Given the description of an element on the screen output the (x, y) to click on. 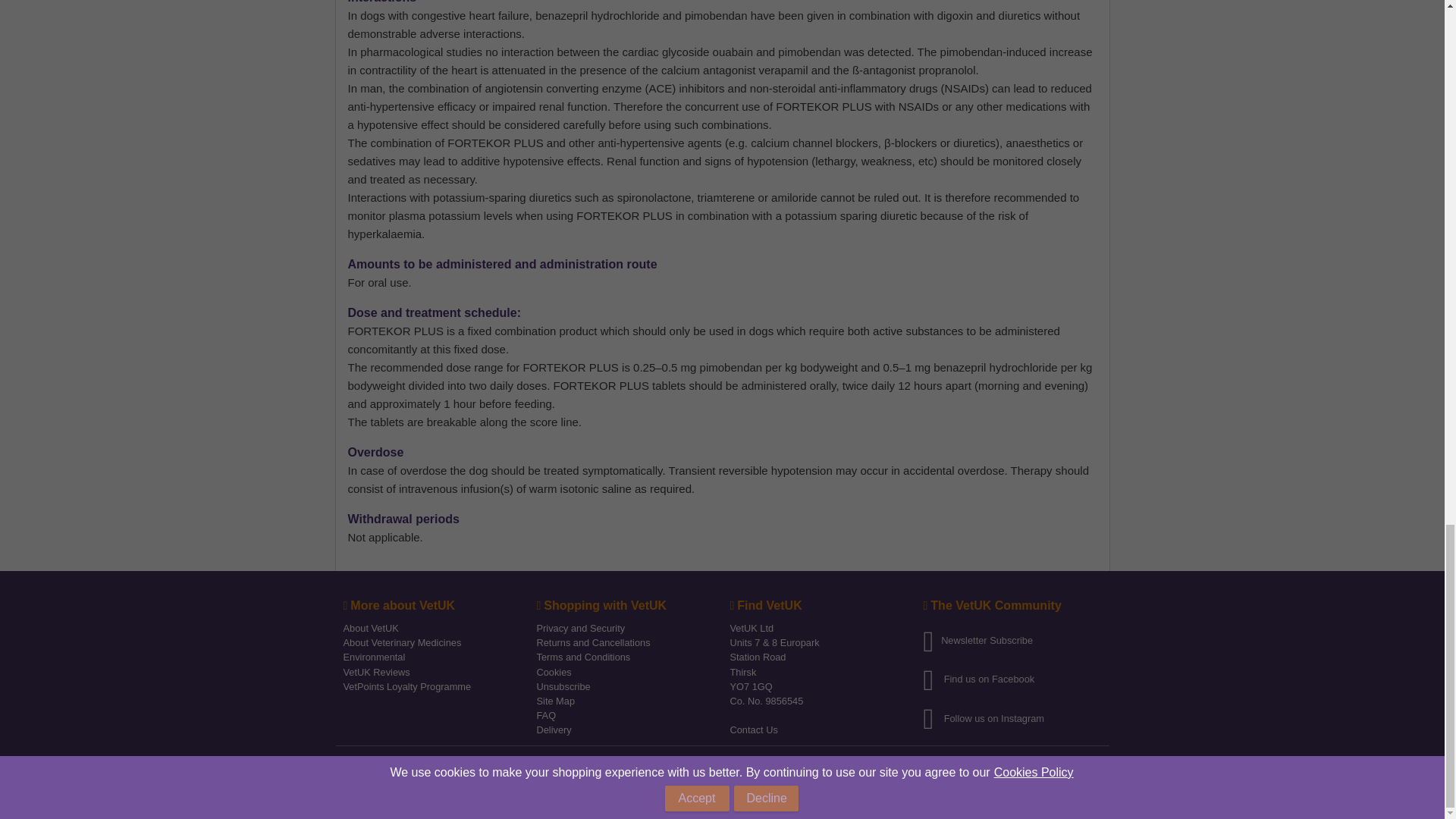
VetUK Reviews (375, 671)
Environmental (373, 655)
Privacy and Security (581, 626)
Terms and Conditions (583, 655)
Returns and Cancellations (593, 641)
VetPoints Loyalty Programme (406, 685)
About Veterinary Medicines (401, 641)
About VetUK (369, 626)
